Given the description of an element on the screen output the (x, y) to click on. 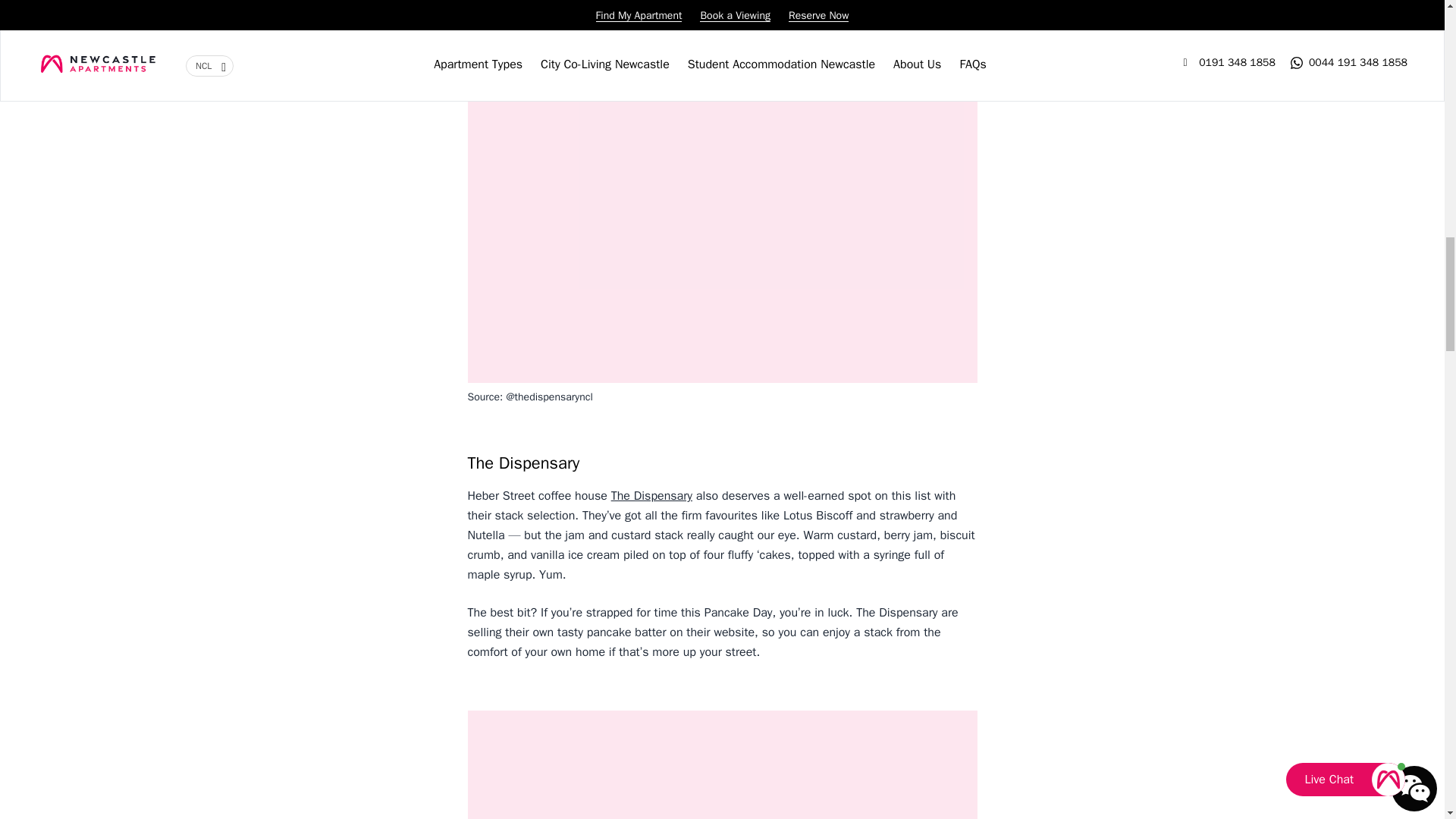
The Dispensary (652, 495)
